Given the description of an element on the screen output the (x, y) to click on. 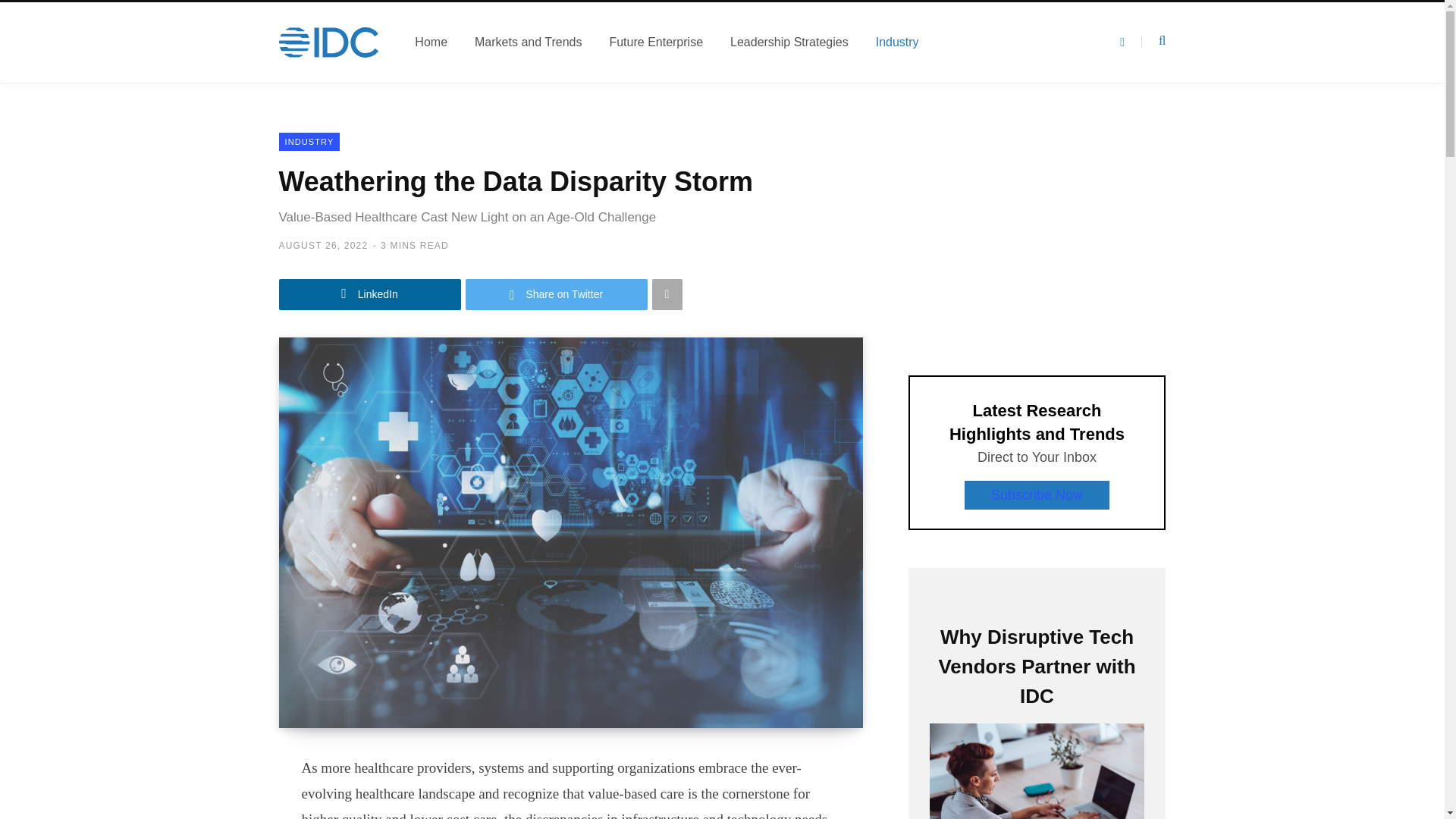
Visit IDC.com (328, 42)
LinkedIn (370, 294)
Leadership Strategies (788, 41)
INDUSTRY (309, 141)
Search (1153, 41)
Share on Twitter (556, 294)
Home (431, 41)
AUGUST 26, 2022 (323, 245)
Share on Twitter (556, 294)
LinkedIn (370, 294)
Industry (897, 41)
Future Enterprise (655, 41)
Markets and Trends (528, 41)
